Given the description of an element on the screen output the (x, y) to click on. 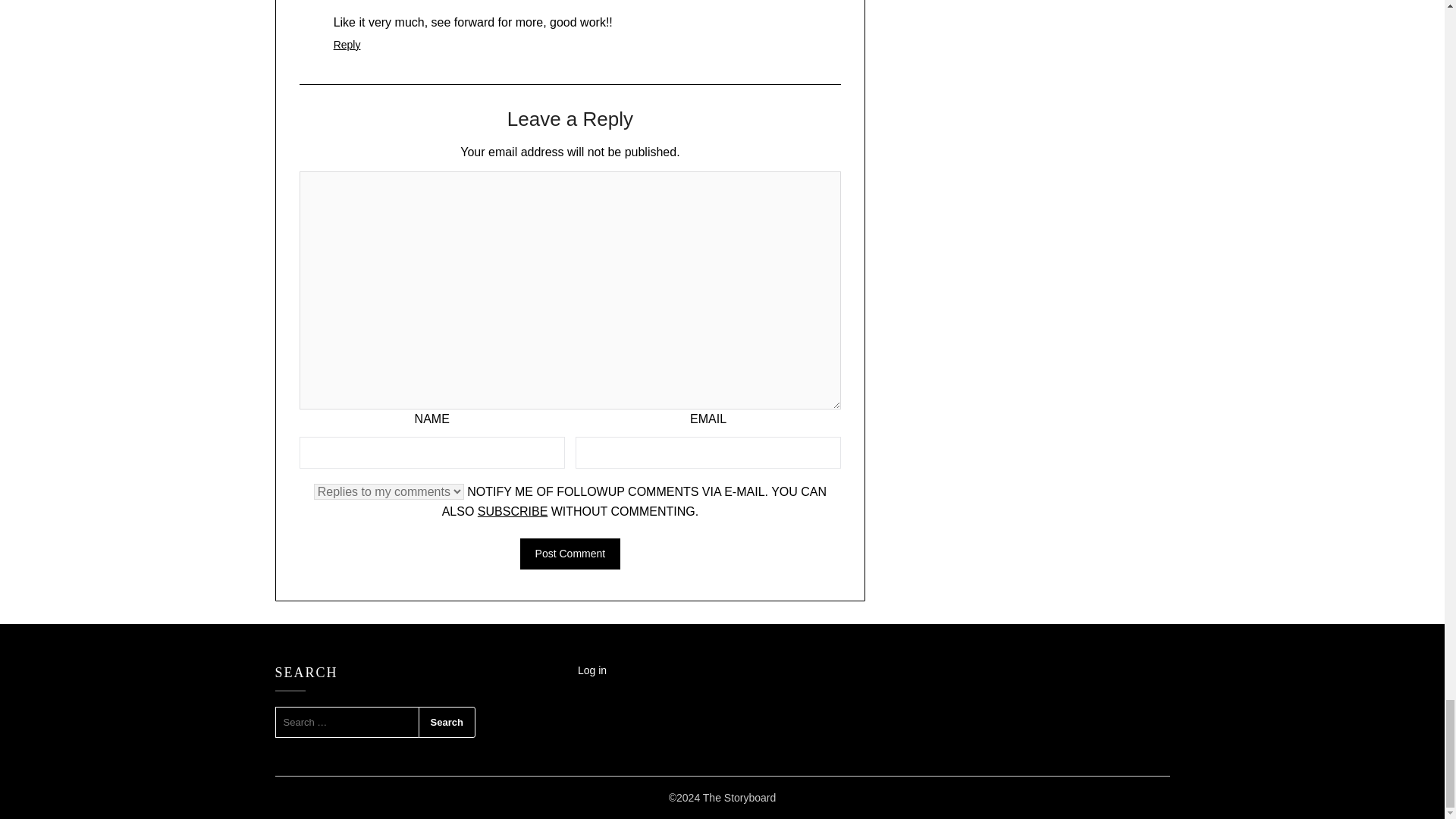
SUBSCRIBE (512, 511)
Search (447, 722)
Reply (347, 44)
Post Comment (570, 553)
Search (447, 722)
Post Comment (570, 553)
